Given the description of an element on the screen output the (x, y) to click on. 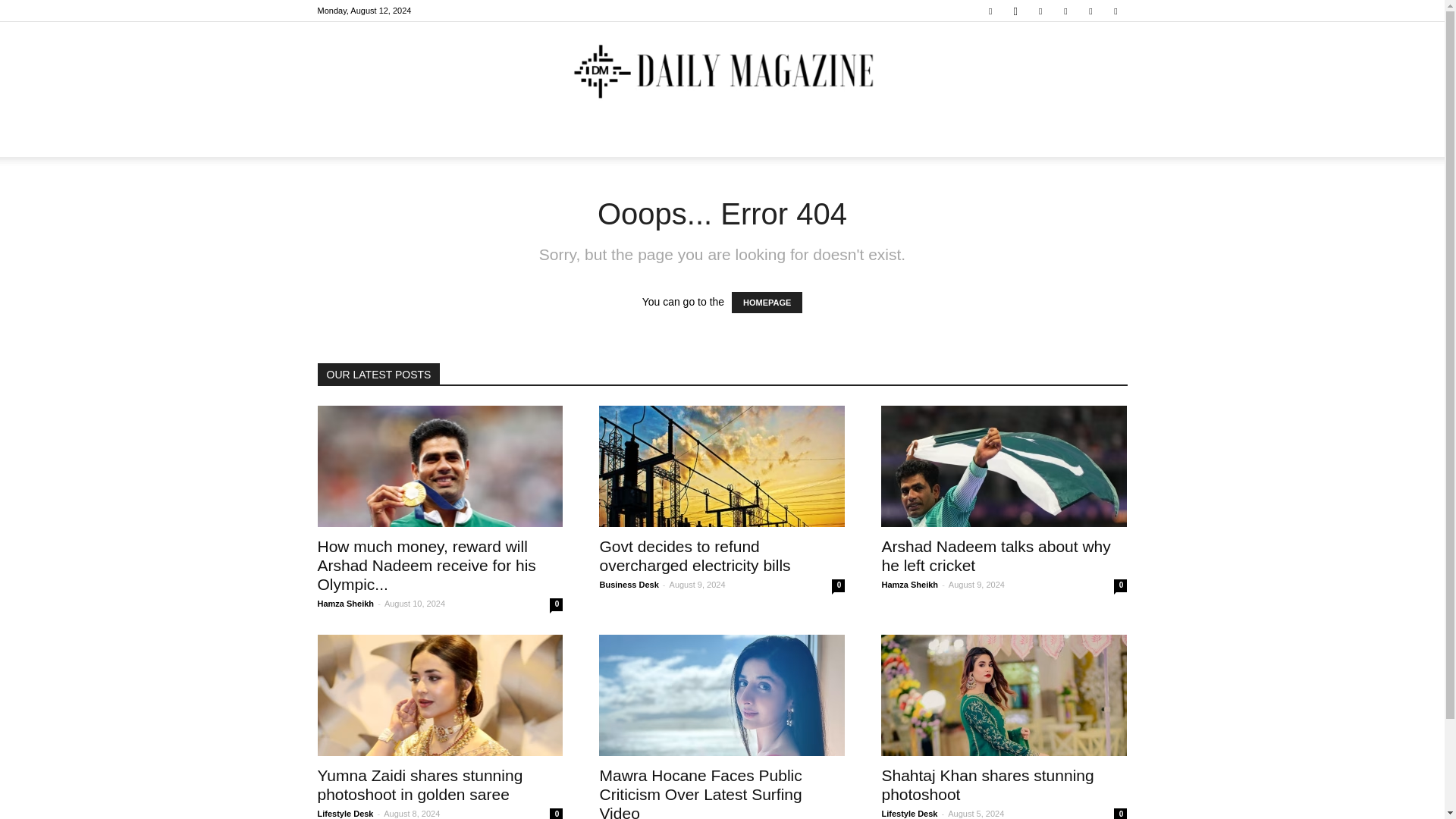
Latest News, Pakistan News, Breaking News (721, 71)
Youtube (1114, 10)
Instagram (1015, 10)
Linkedin (1040, 10)
Facebook (989, 10)
Twitter (1090, 10)
RSS (1065, 10)
